Given the description of an element on the screen output the (x, y) to click on. 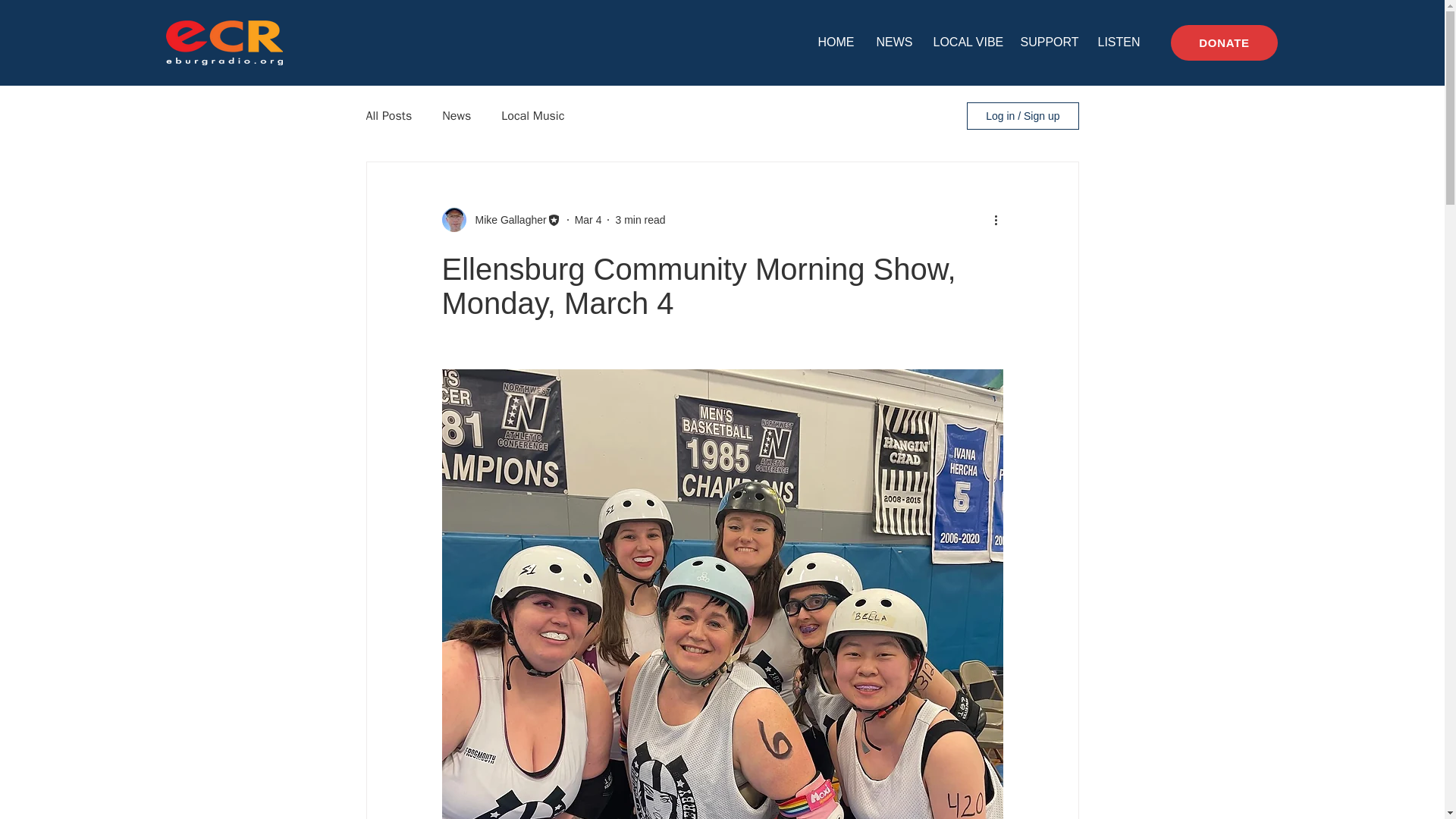
News (456, 115)
Local Music (532, 115)
topbar-logo.png (223, 42)
DONATE (1224, 42)
Mike Gallagher (505, 220)
LISTEN (1116, 42)
3 min read (639, 219)
All Posts (388, 115)
NEWS (892, 42)
Mar 4 (588, 219)
